Given the description of an element on the screen output the (x, y) to click on. 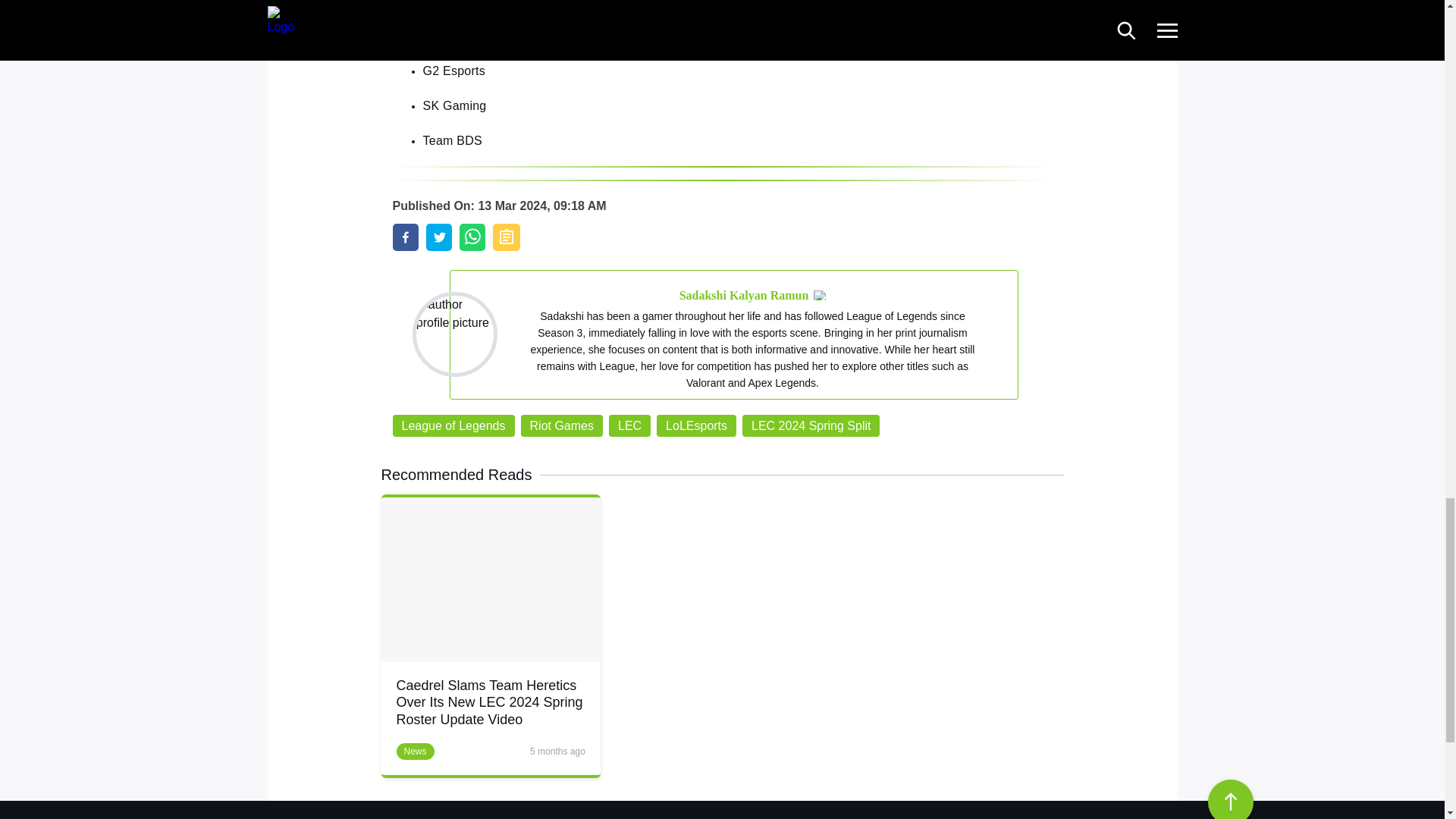
LEC 2024 Spring Split (810, 425)
LEC (629, 425)
Sadakshi Kalyan Ramun (744, 295)
League of Legends (454, 425)
LoLEsports (696, 425)
Riot Games (561, 425)
